Given the description of an element on the screen output the (x, y) to click on. 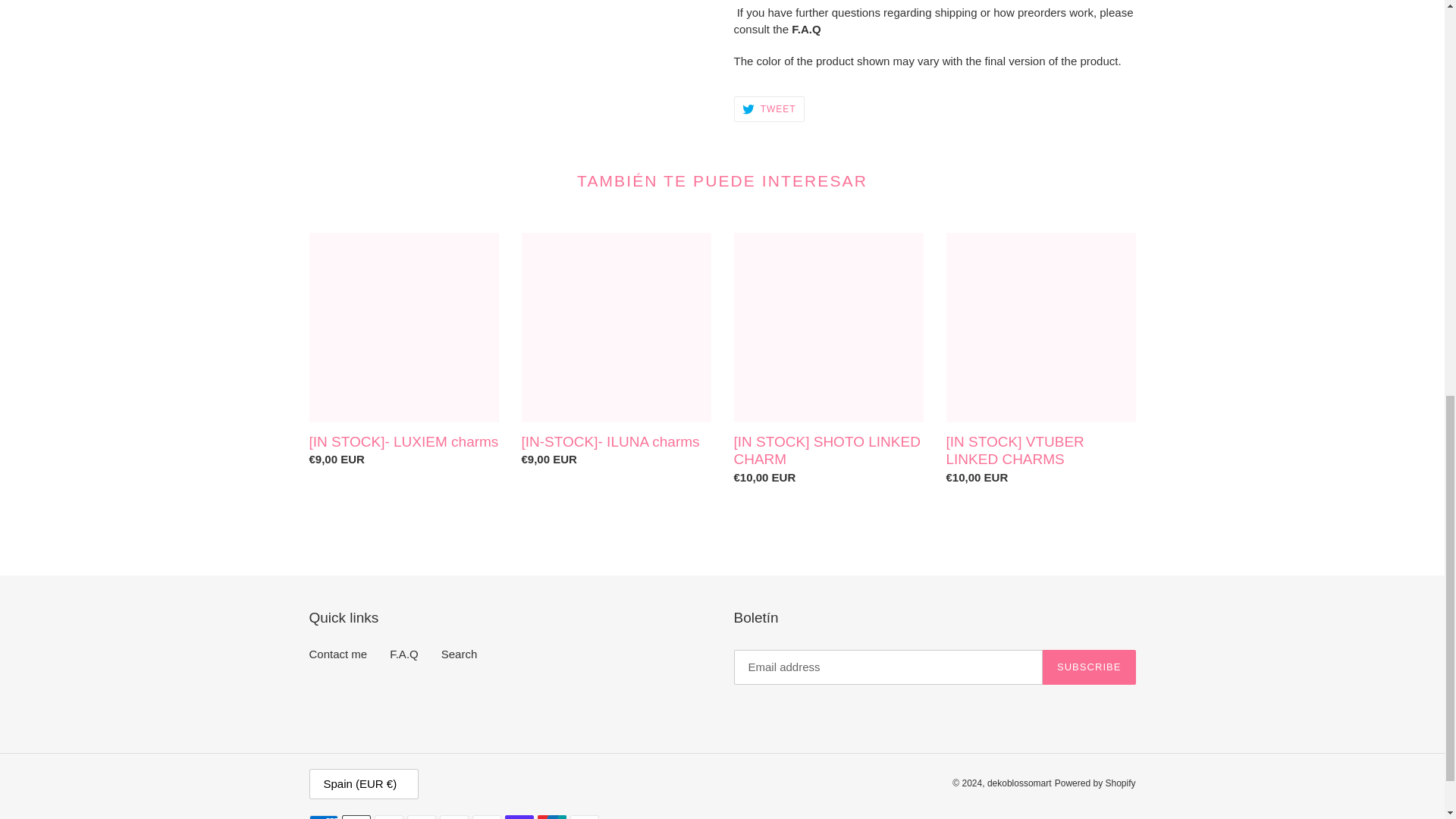
F.A.Q (404, 653)
Contact me (338, 653)
Search (459, 653)
SUBSCRIBE (769, 109)
